Given the description of an element on the screen output the (x, y) to click on. 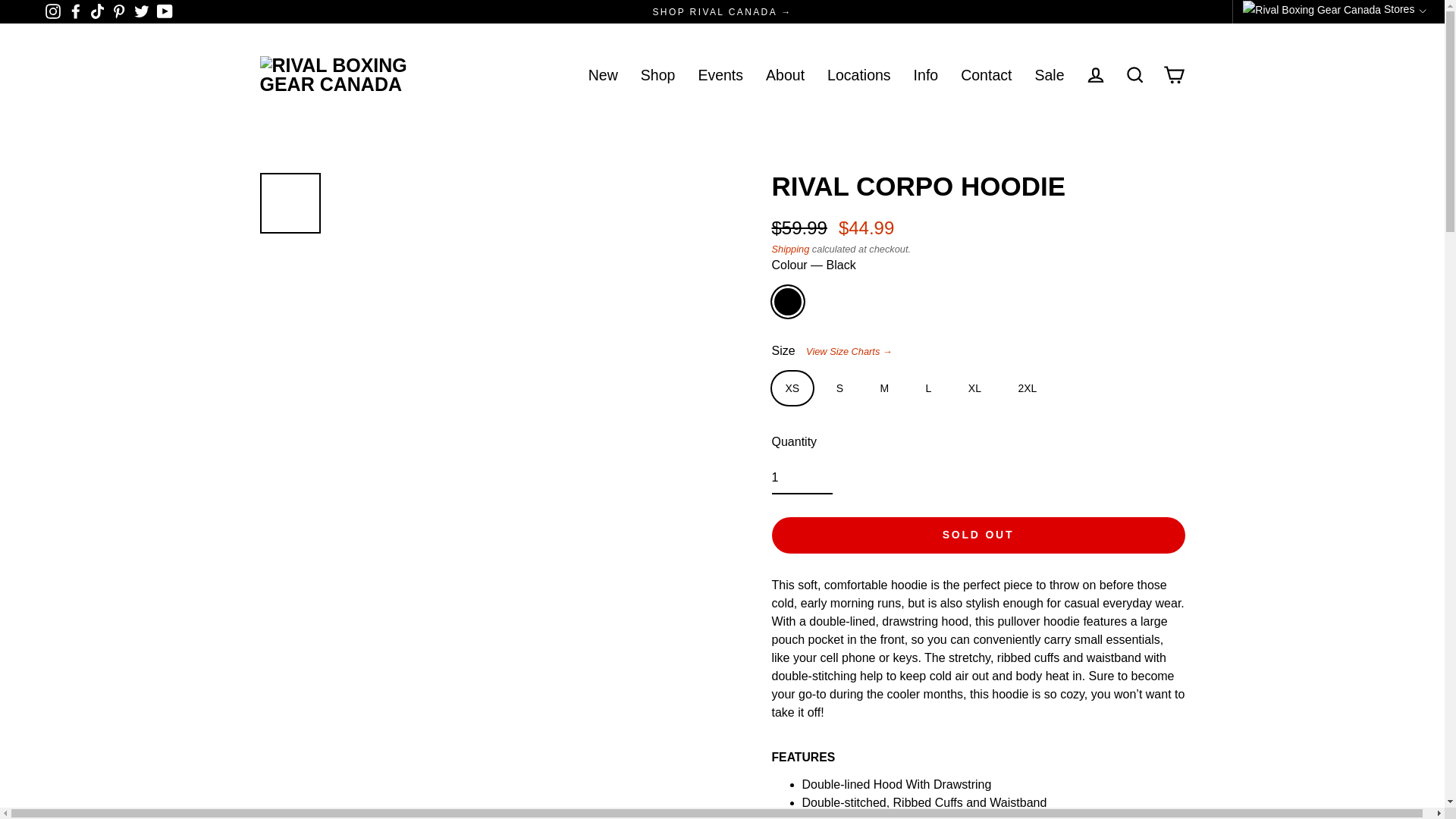
Rival Boxing Gear Canada on Instagram (53, 10)
Rival Boxing Gear Canada on Pinterest (119, 10)
Rival Boxing Gear Canada on Twitter (141, 10)
Rival Boxing Gear Canada on YouTube (165, 10)
Rival Boxing Gear Canada on TikTok (96, 10)
1 (801, 478)
Rival Boxing Gear Canada on Facebook (75, 10)
